Given the description of an element on the screen output the (x, y) to click on. 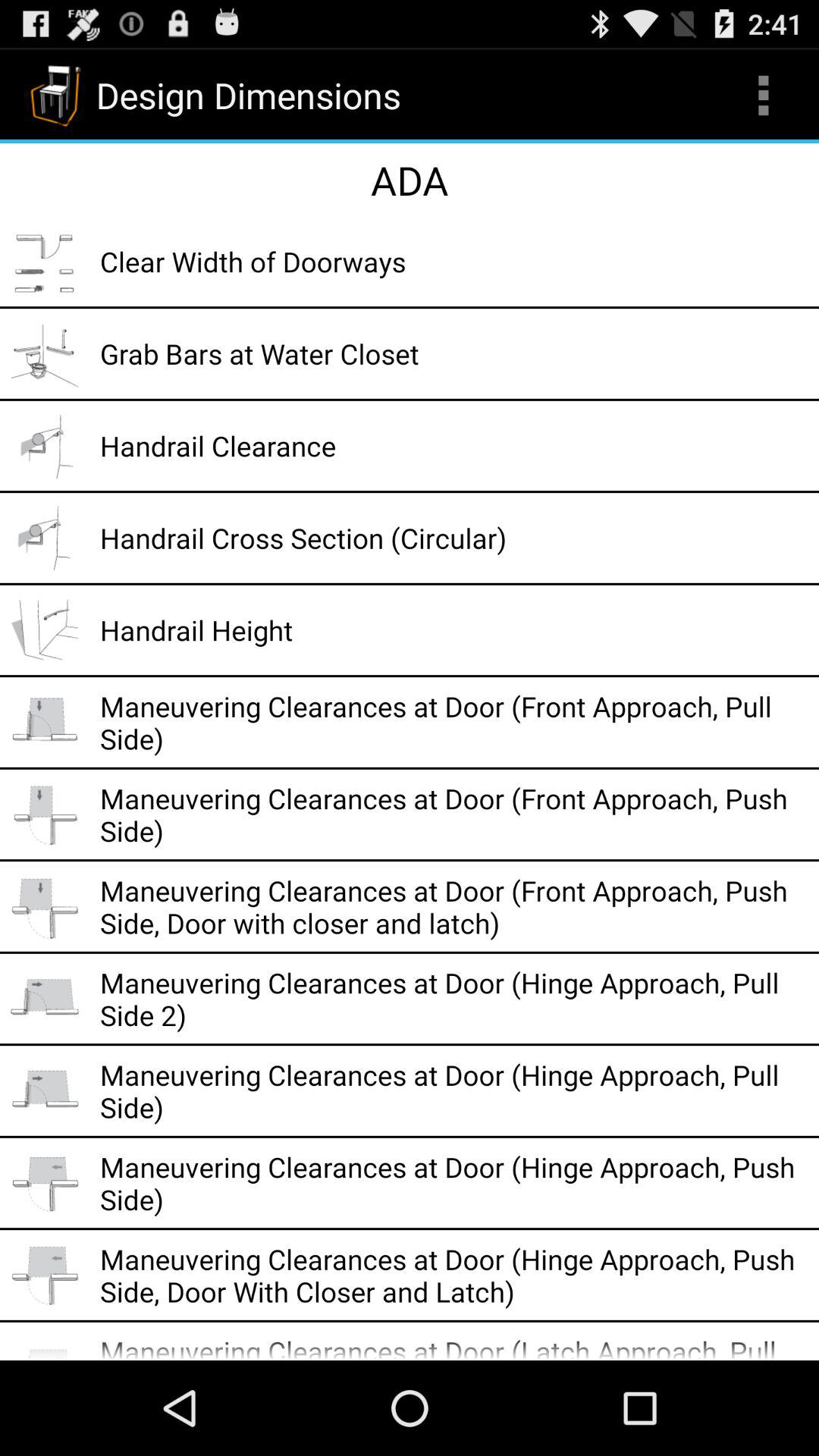
scroll until the handrail clearance app (454, 445)
